Given the description of an element on the screen output the (x, y) to click on. 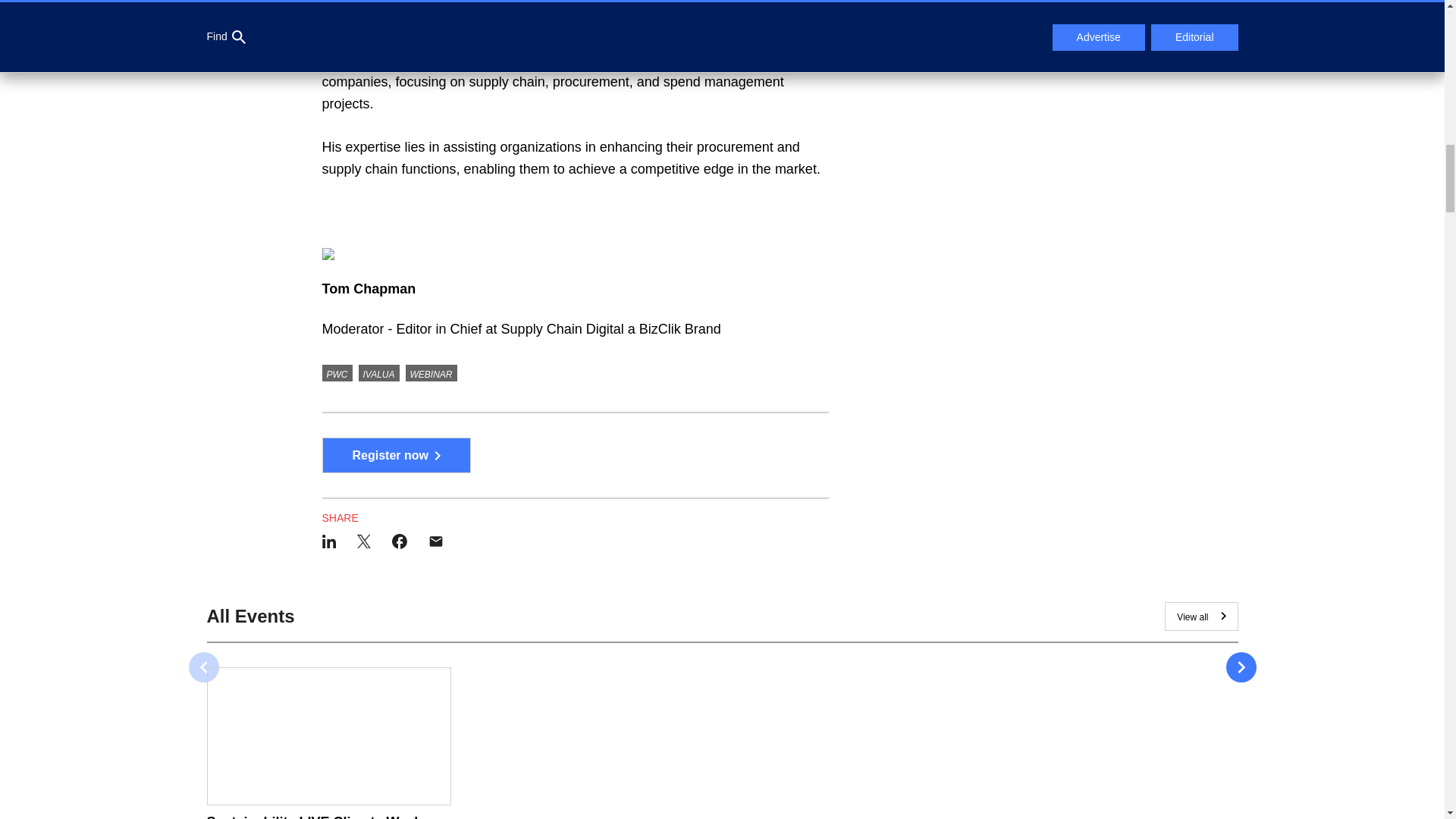
Register now (395, 455)
View all (1200, 616)
WEBINAR (431, 372)
PWC (336, 372)
IVALUA (378, 372)
